Given the description of an element on the screen output the (x, y) to click on. 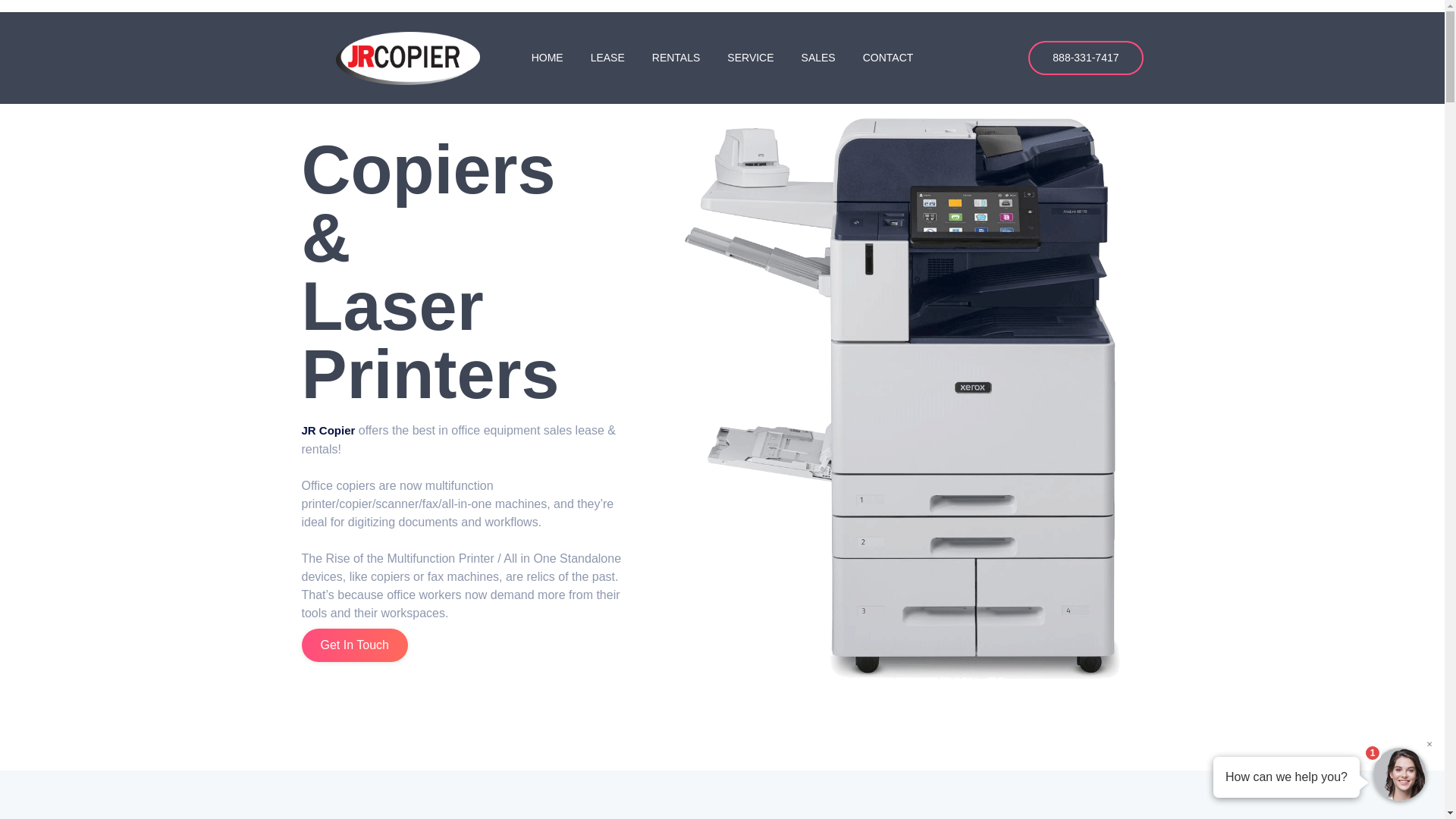
SALES (817, 58)
HOME (547, 58)
SERVICE (750, 58)
888-331-7417 (1085, 57)
LEASE (607, 58)
Get In Touch (354, 644)
RENTALS (676, 58)
CONTACT (887, 58)
